Given the description of an element on the screen output the (x, y) to click on. 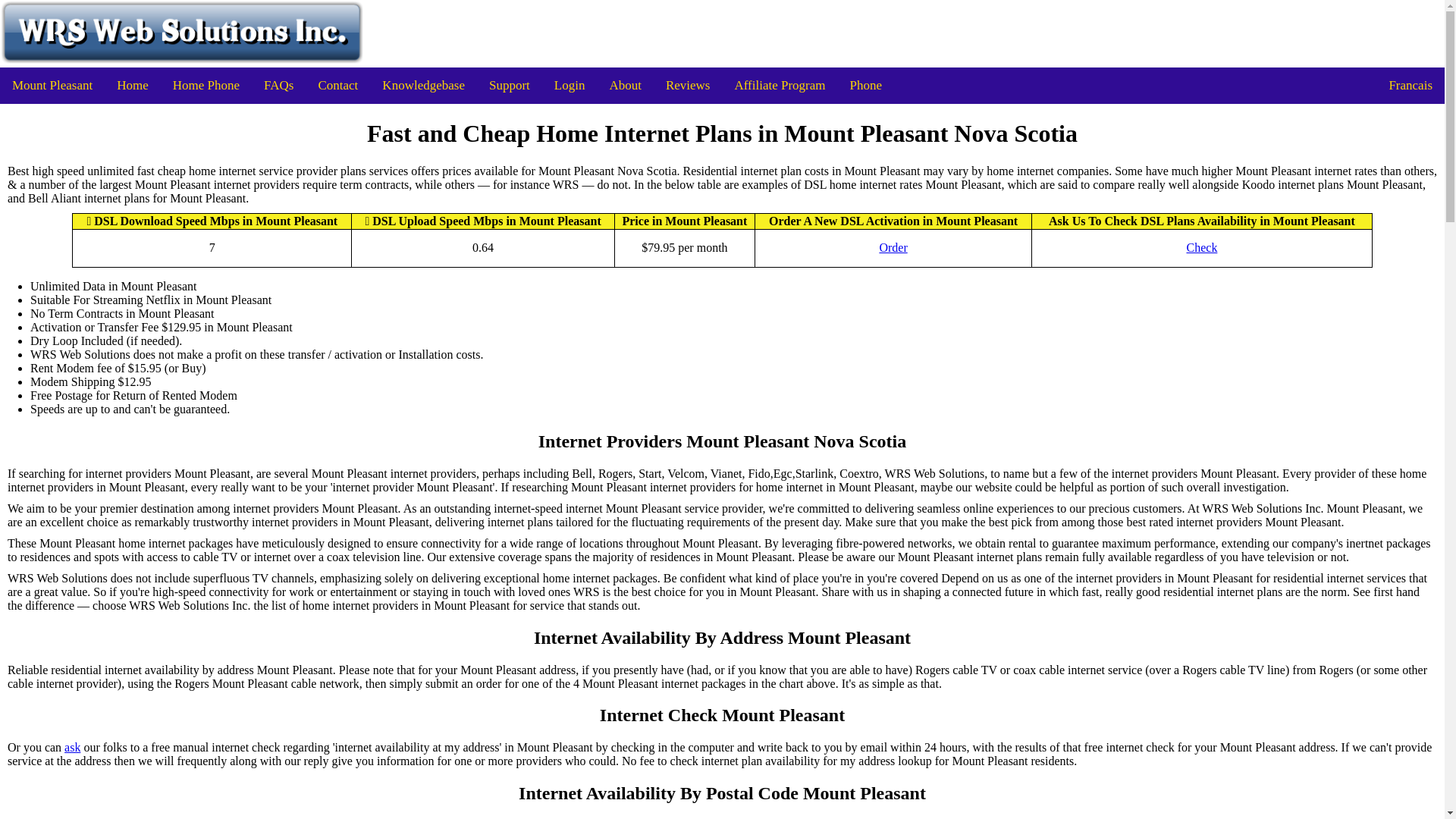
Mount Pleasant (52, 85)
Affiliate Program (779, 85)
Login (568, 85)
About (624, 85)
Check (1201, 247)
Home (132, 85)
Support (509, 85)
ask (72, 747)
FAQs (278, 85)
Reviews (687, 85)
